Given the description of an element on the screen output the (x, y) to click on. 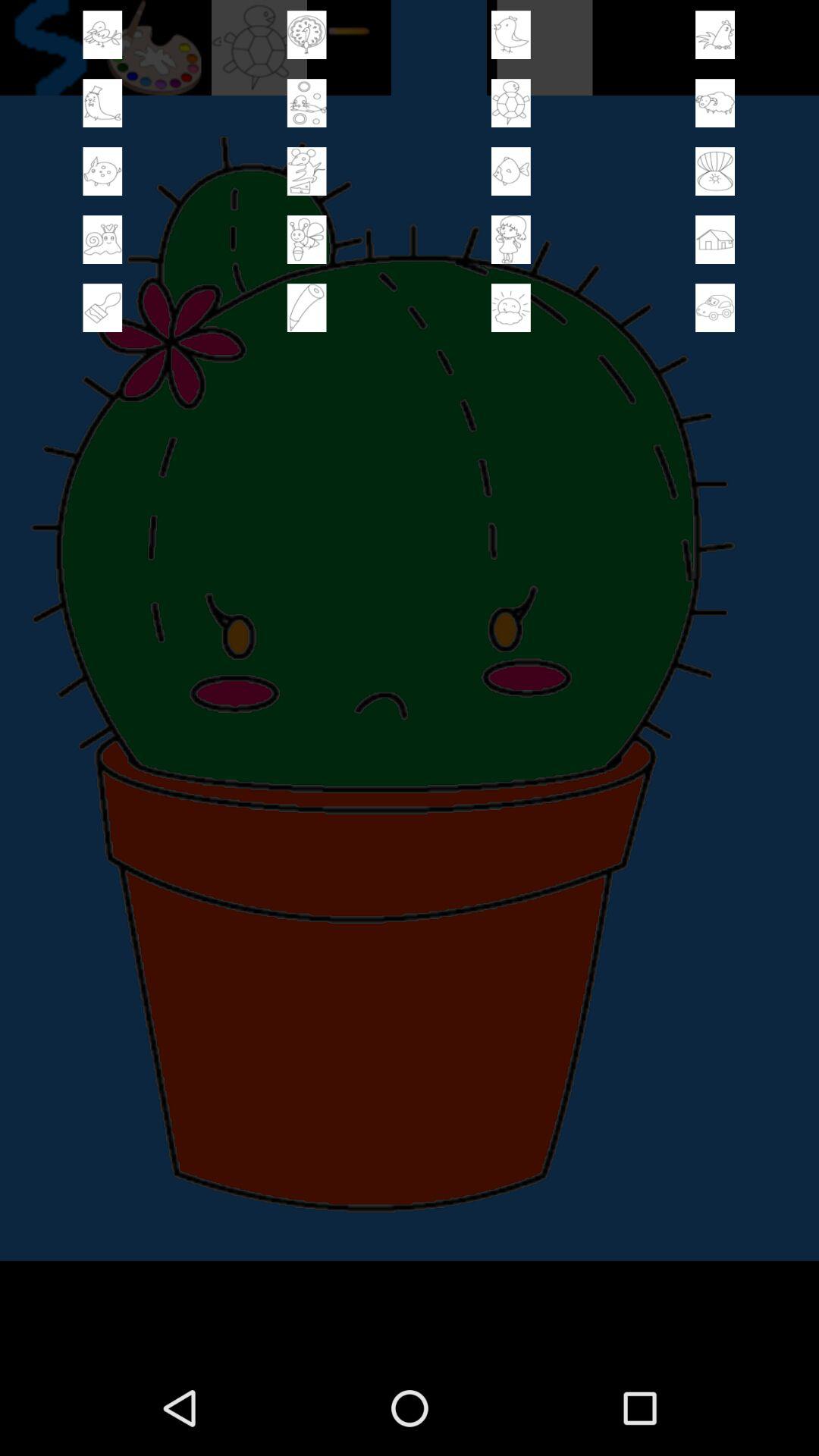
select image (510, 307)
